Given the description of an element on the screen output the (x, y) to click on. 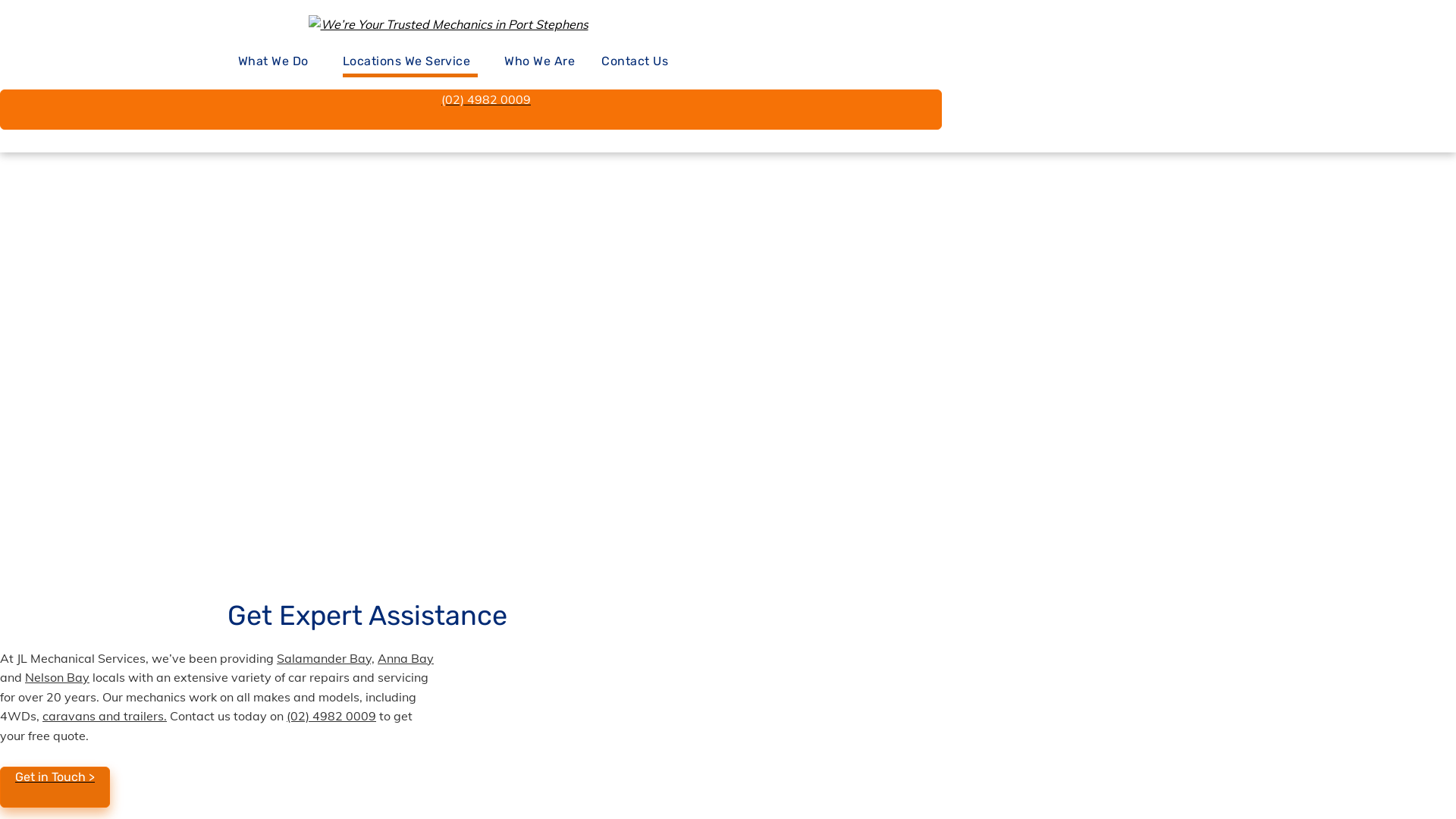
Salamander Bay, Element type: text (325, 657)
Get in Touch > Element type: text (54, 786)
(02) 4982 0009 Element type: text (470, 109)
Who We Are Element type: text (539, 62)
What We Do Element type: text (276, 62)
caravans and trailers. Element type: text (104, 715)
Nelson Bay Element type: text (57, 676)
Contact Us Element type: text (634, 62)
Locations We Service Element type: text (410, 62)
(02) 4982 0009 Element type: text (331, 715)
Anna Bay Element type: text (405, 657)
